Given the description of an element on the screen output the (x, y) to click on. 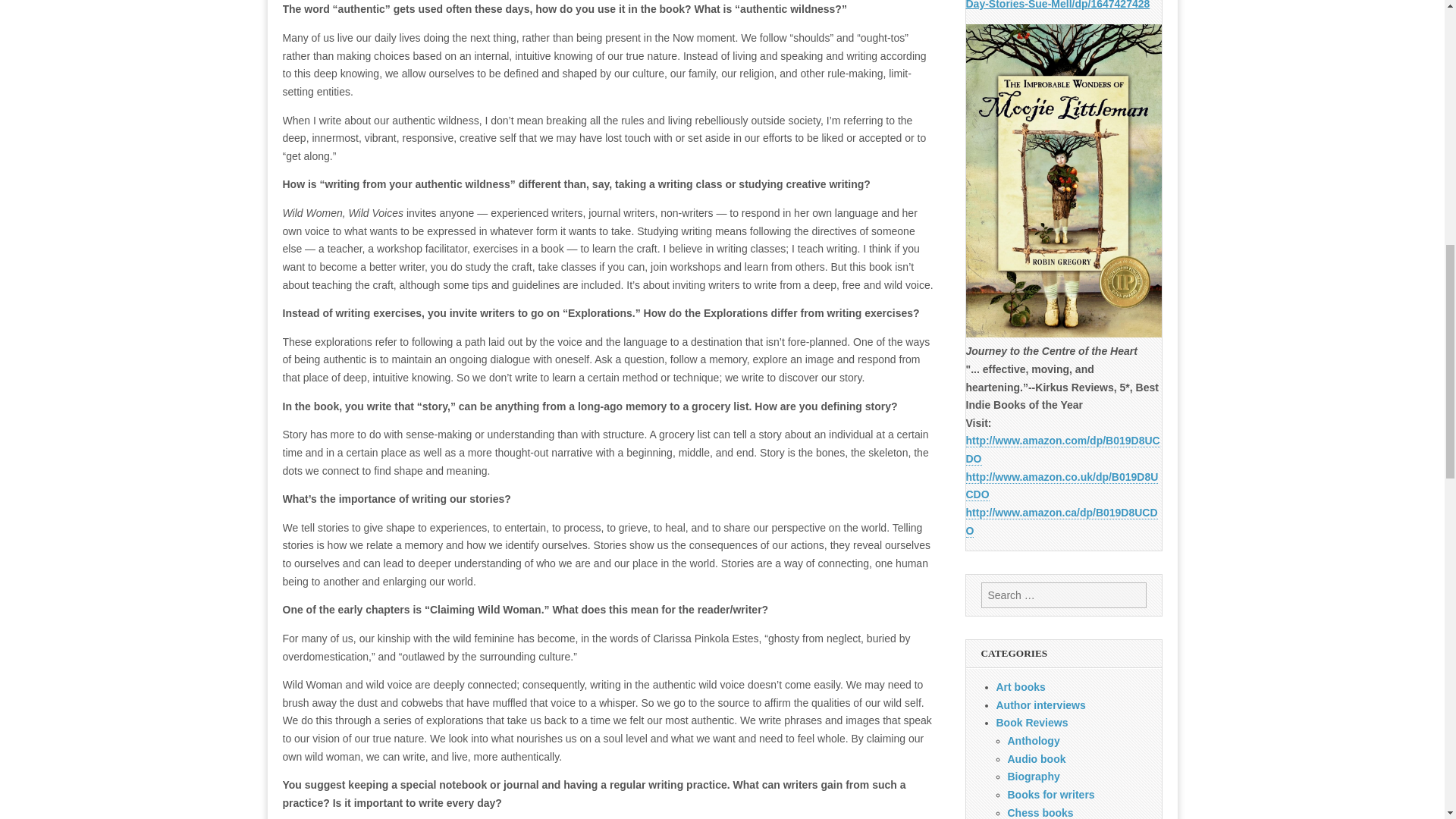
Chess books (1040, 812)
Anthology (1033, 740)
Books for writers (1050, 794)
Author interviews (1040, 705)
Audio book (1036, 758)
Biography (1033, 776)
Book Reviews (1031, 722)
Art books (1020, 686)
